Given the description of an element on the screen output the (x, y) to click on. 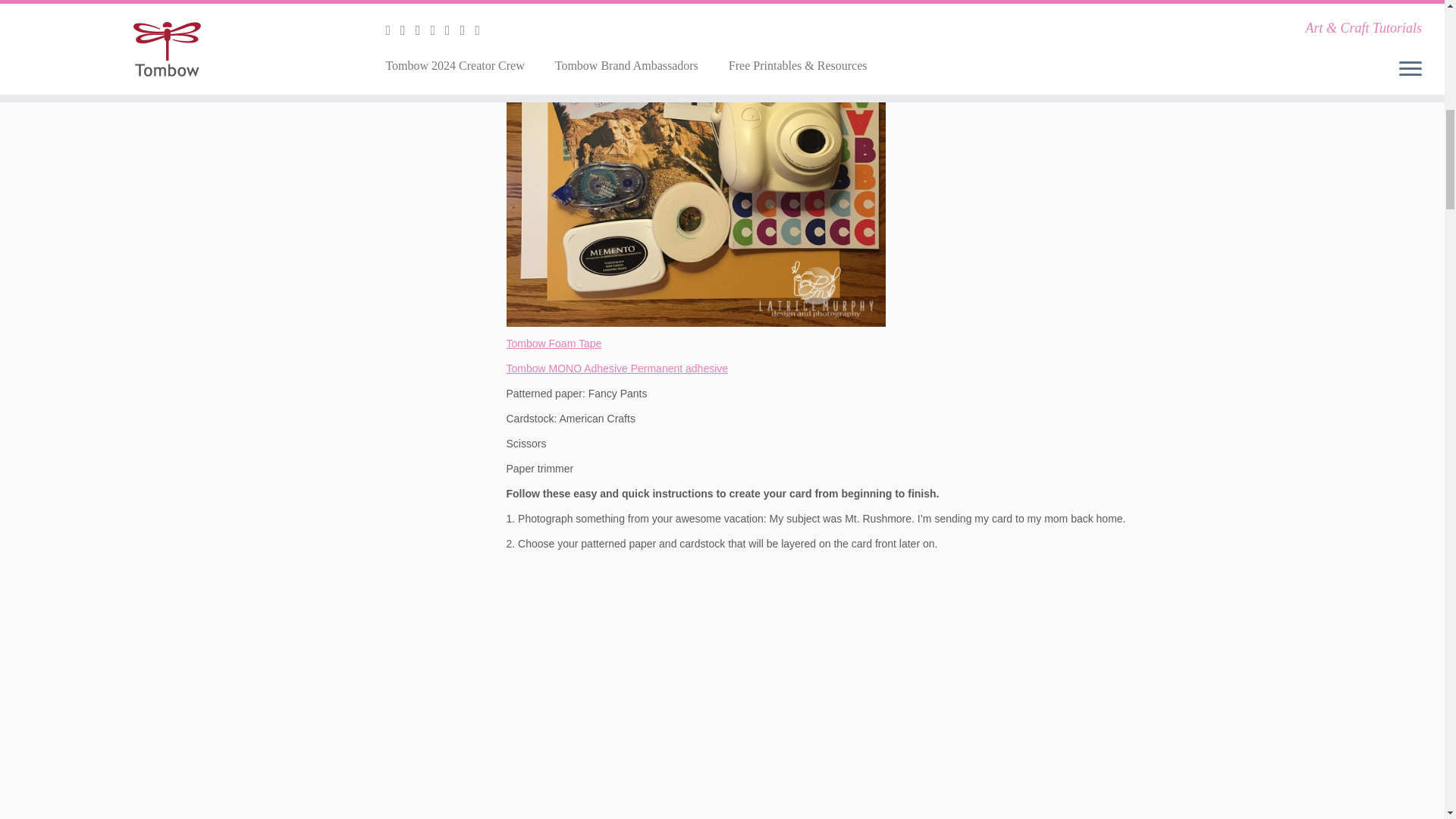
Tombow Foam Tape (554, 343)
Tombow MONO Adhesive Permanent adhesive (617, 368)
